Given the description of an element on the screen output the (x, y) to click on. 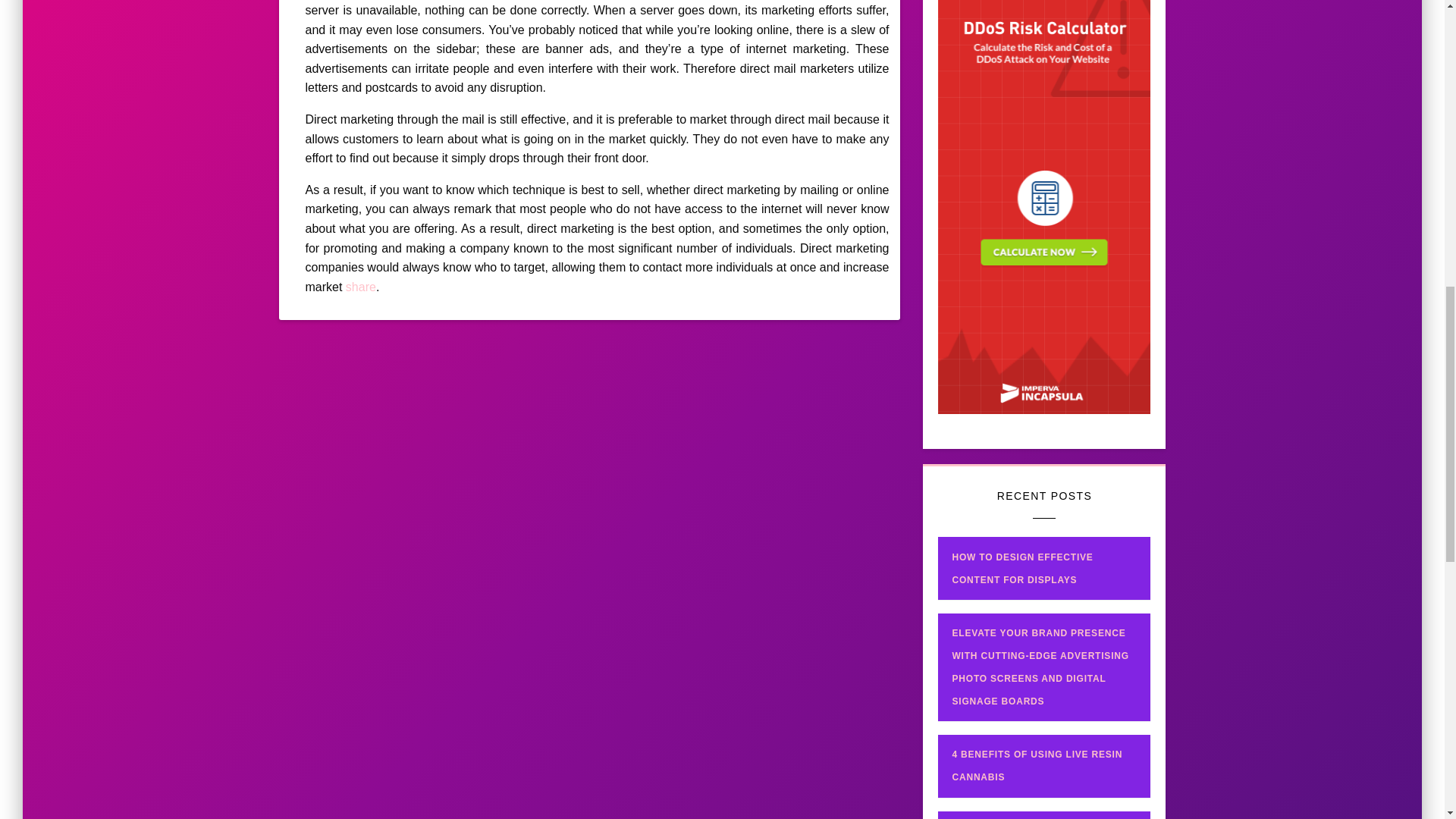
share (360, 286)
HOW TO DESIGN EFFECTIVE CONTENT FOR DISPLAYS (1042, 568)
4 BENEFITS OF USING LIVE RESIN CANNABIS (1037, 765)
